Given the description of an element on the screen output the (x, y) to click on. 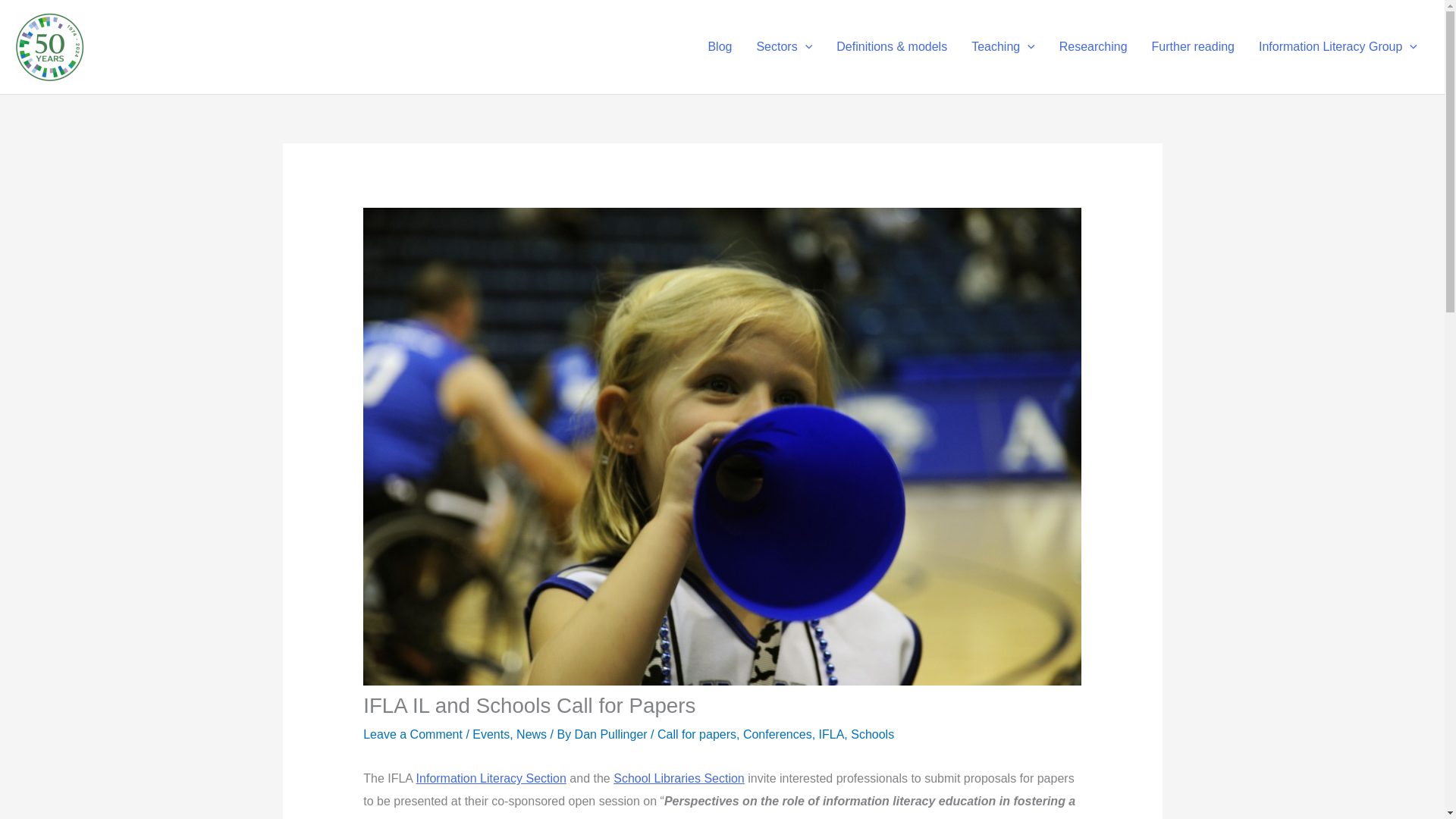
Researching (1093, 46)
Teaching (1002, 46)
Blog (719, 46)
Information Literacy Group (1337, 46)
Further reading (1193, 46)
Sectors (784, 46)
View all posts by Dan Pullinger (612, 734)
